Given the description of an element on the screen output the (x, y) to click on. 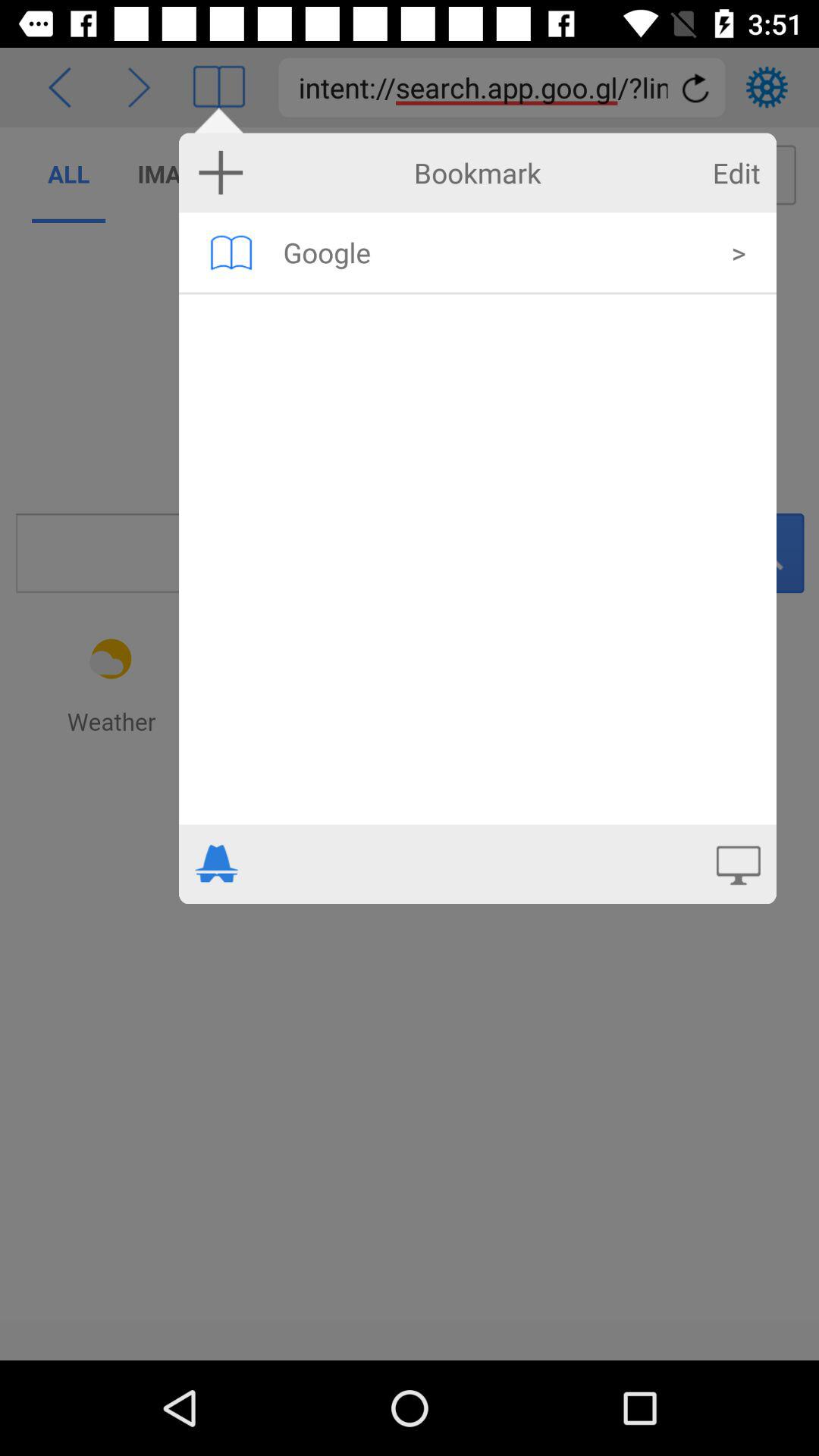
click edit (736, 172)
